Given the description of an element on the screen output the (x, y) to click on. 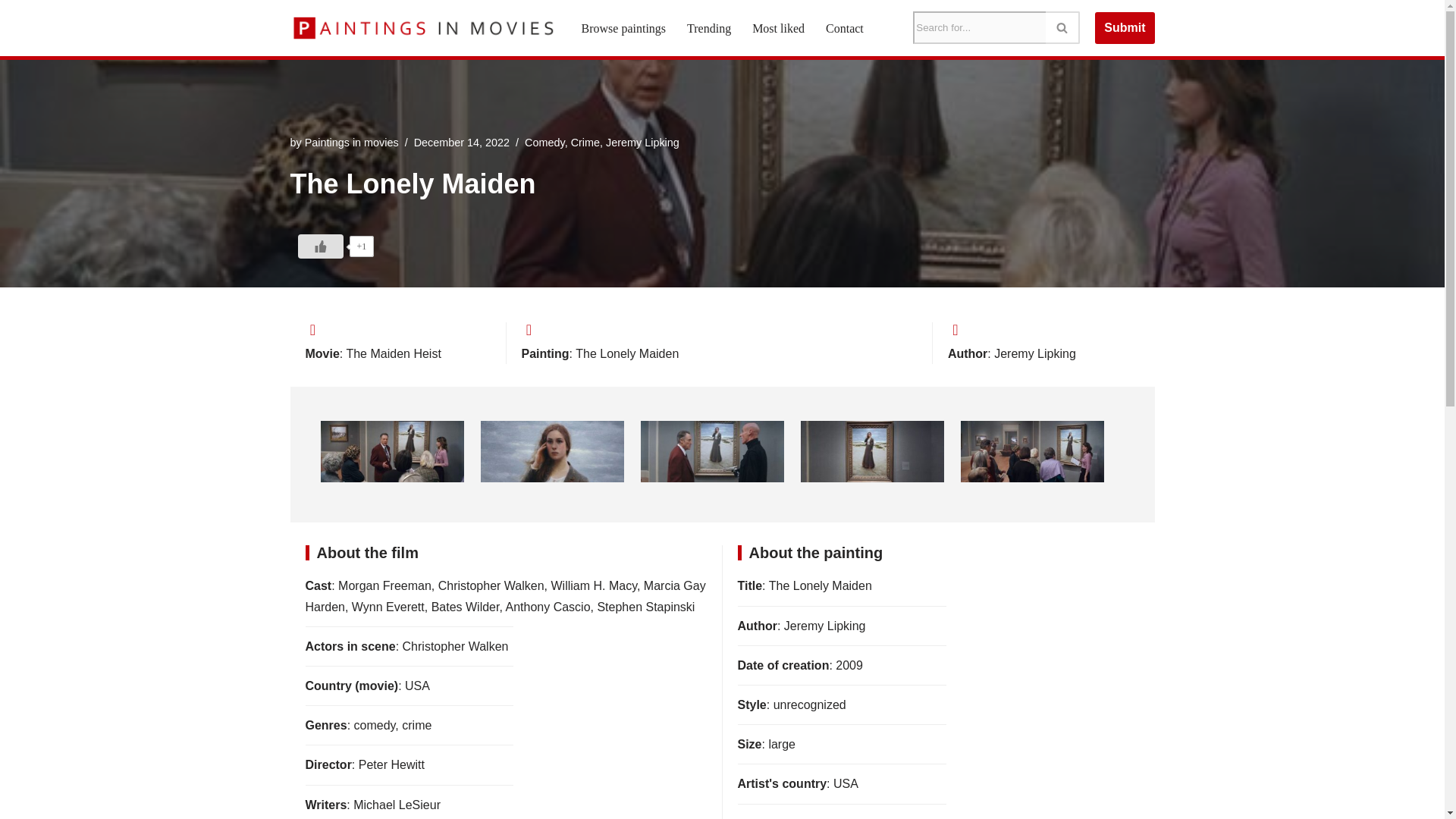
Most liked (778, 28)
Crime (584, 142)
Posts by Paintings in movies (351, 142)
Trending (708, 28)
Contact (844, 28)
Comedy (544, 142)
Skip to content (11, 31)
Paintings in movies (421, 27)
Submit (1124, 28)
Jeremy Lipking (642, 142)
Paintings in movies (351, 142)
Browse paintings (622, 28)
